Given the description of an element on the screen output the (x, y) to click on. 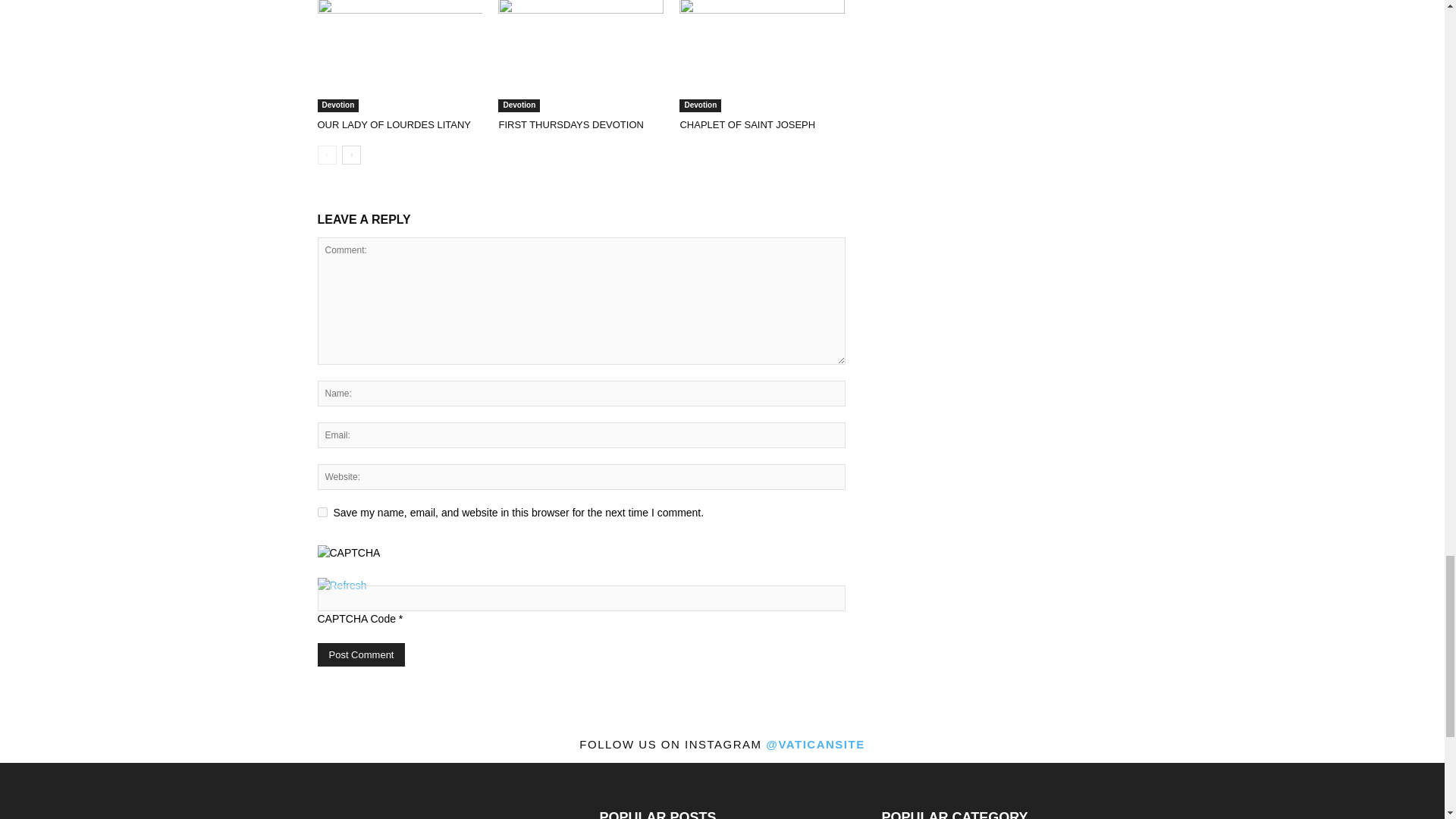
FIRST THURSDAYS DEVOTION (580, 56)
Post Comment (360, 654)
yes (321, 511)
OUR LADY OF LOURDES LITANY (399, 56)
OUR LADY OF LOURDES LITANY (393, 124)
